Given the description of an element on the screen output the (x, y) to click on. 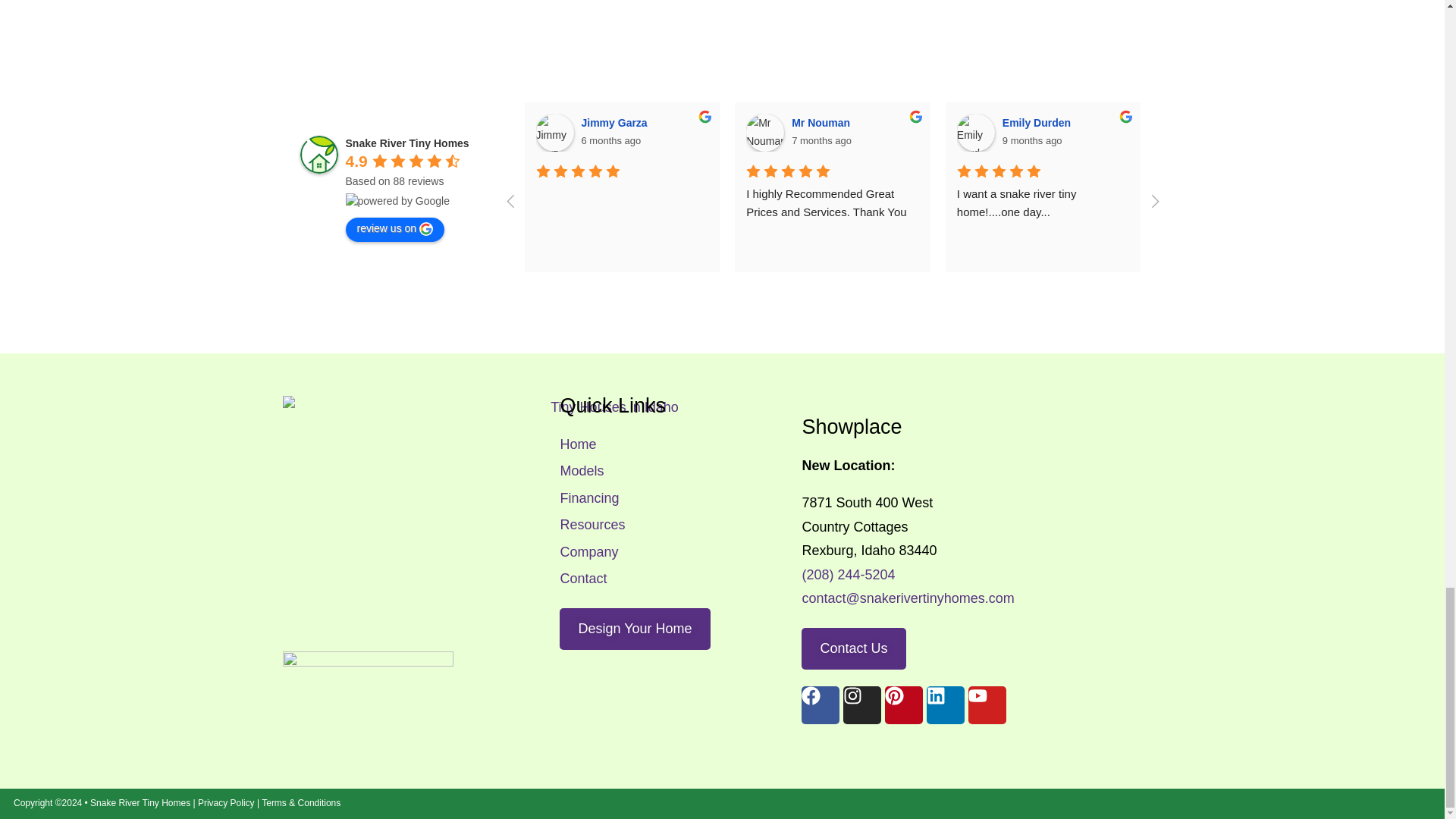
Mr Nouman (764, 132)
Emily Durden (975, 132)
Snake River Tiny Homes (318, 154)
Carolyn Kollegger (1396, 132)
Mike Wood (1186, 132)
Jimmy Garza (554, 132)
powered by Google (397, 200)
